Given the description of an element on the screen output the (x, y) to click on. 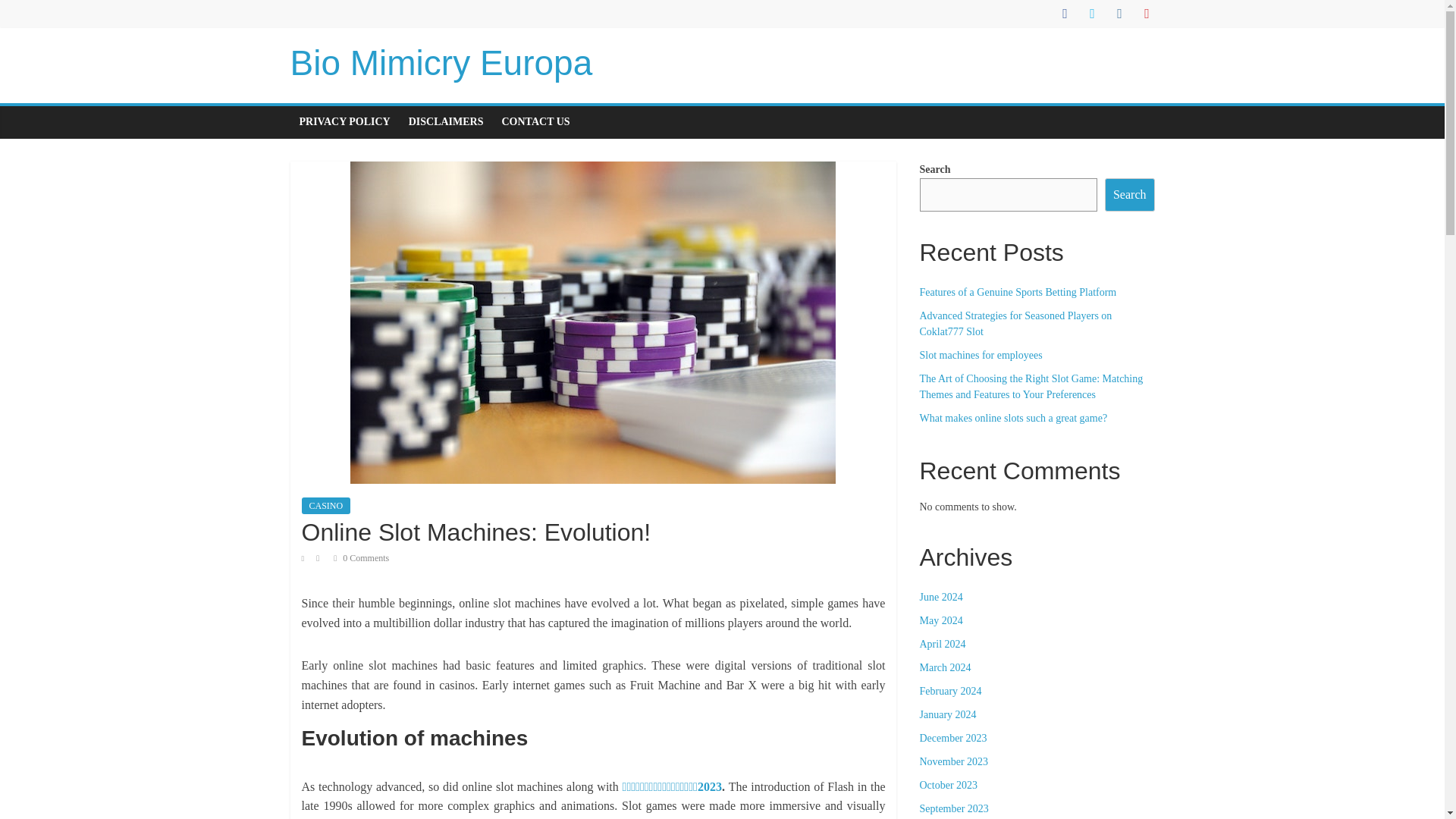
Features of a Genuine Sports Betting Platform (1017, 292)
DISCLAIMERS (445, 122)
Bio Mimicry Europa (440, 62)
May 2024 (940, 620)
Slot machines for employees (980, 355)
CONTACT US (536, 122)
What makes online slots such a great game? (1012, 418)
Advanced Strategies for Seasoned Players on Coklat777 Slot (1015, 323)
Search (1129, 194)
June 2024 (940, 596)
PRIVACY POLICY (343, 122)
Bio Mimicry Europa (440, 62)
CASINO (325, 505)
0 Comments (360, 557)
